Given the description of an element on the screen output the (x, y) to click on. 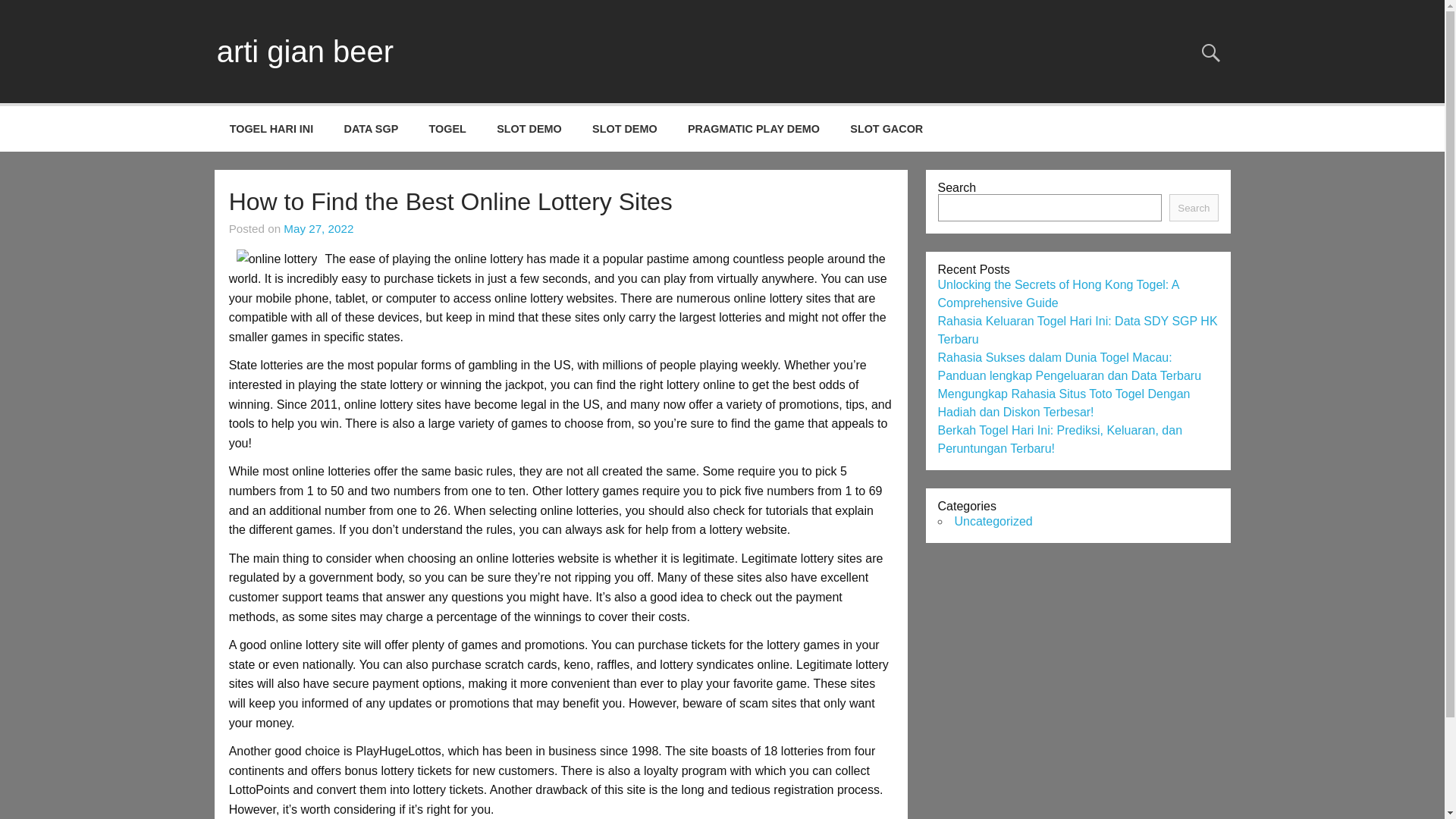
Uncategorized (992, 521)
TOGEL HARI INI (271, 128)
1:36 am (318, 228)
TOGEL (447, 128)
arti gian beer (304, 51)
PRAGMATIC PLAY DEMO (753, 128)
SLOT DEMO (624, 128)
SLOT GACOR (885, 128)
SLOT DEMO (528, 128)
DATA SGP (371, 128)
Rahasia Keluaran Togel Hari Ini: Data SDY SGP HK Terbaru (1077, 329)
